Given the description of an element on the screen output the (x, y) to click on. 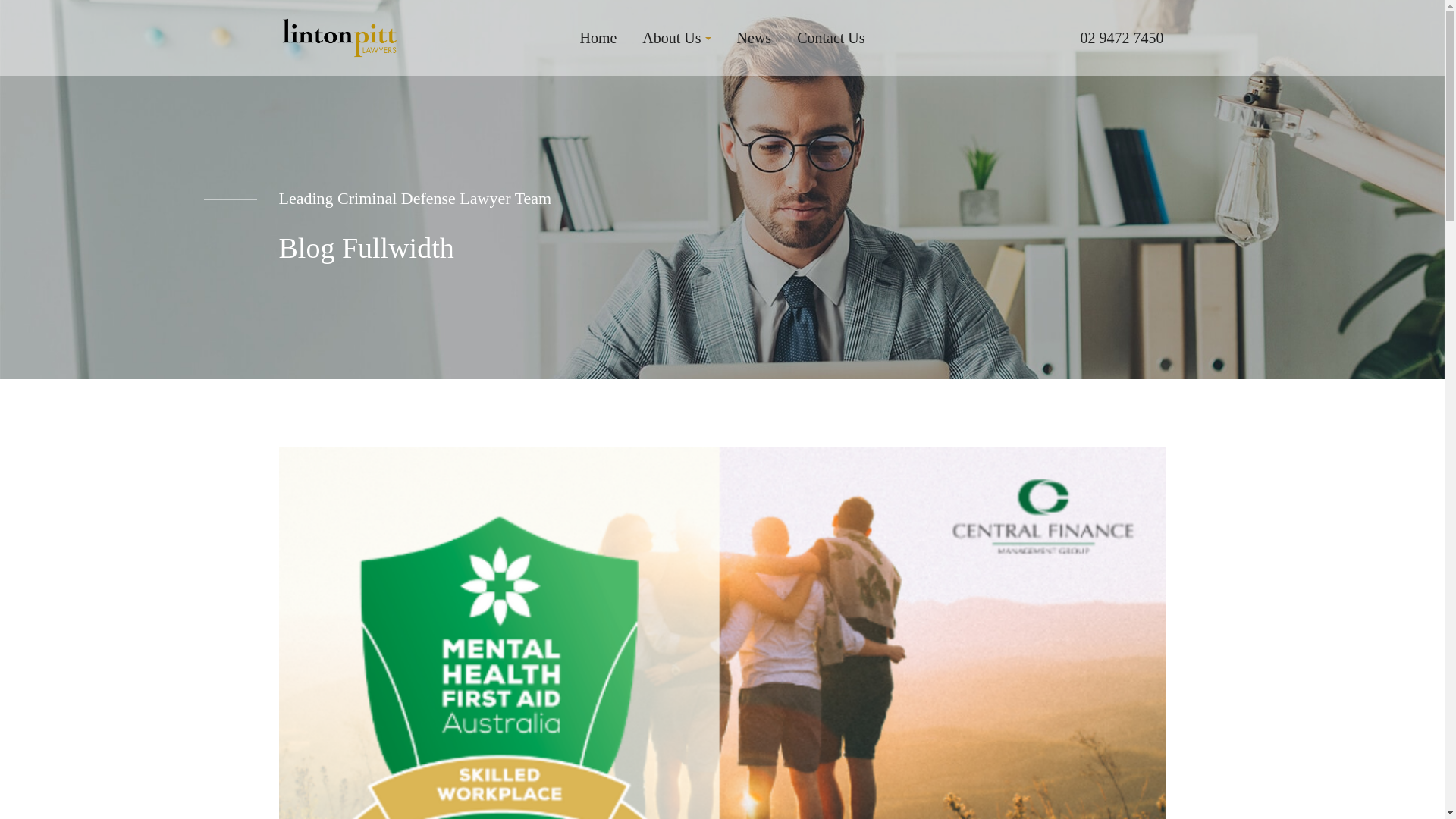
02 9472 7450 Element type: text (1122, 37)
News Element type: text (754, 37)
About Us Element type: text (676, 37)
Contact Us Element type: text (830, 37)
Home Element type: text (597, 37)
